Given the description of an element on the screen output the (x, y) to click on. 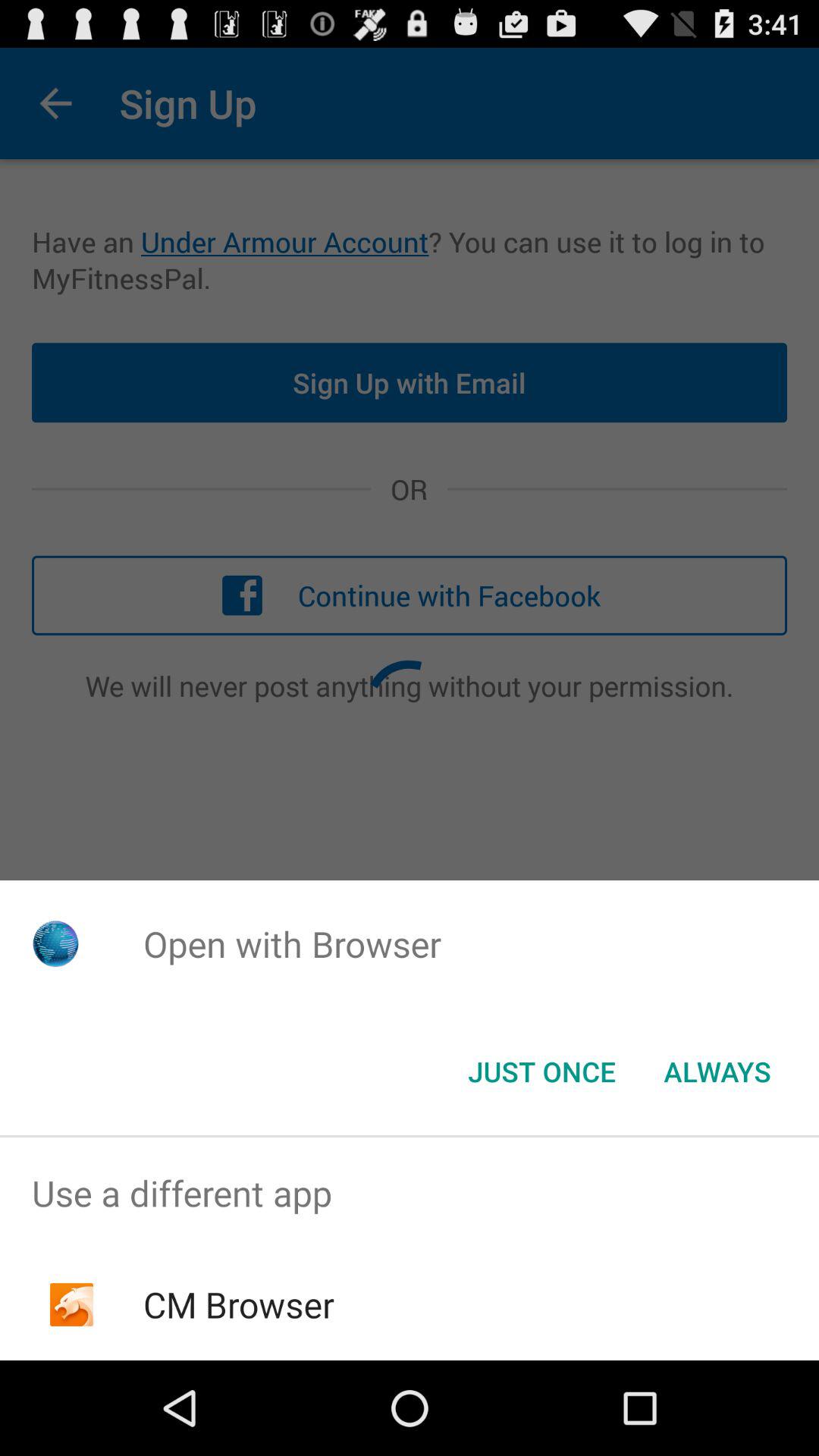
choose the item to the left of the always button (541, 1071)
